Given the description of an element on the screen output the (x, y) to click on. 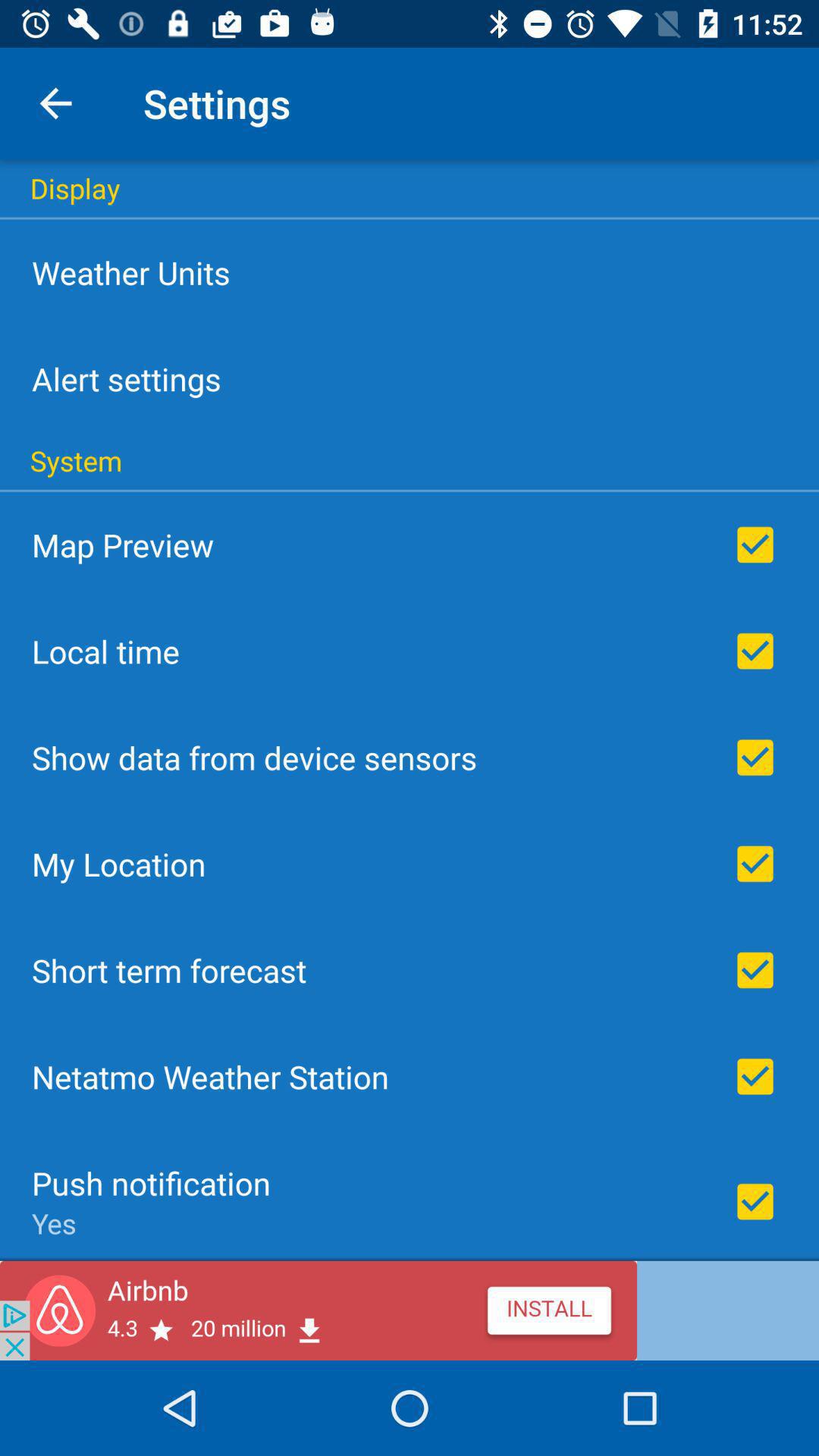
airbnb app advertisement (409, 1310)
